Given the description of an element on the screen output the (x, y) to click on. 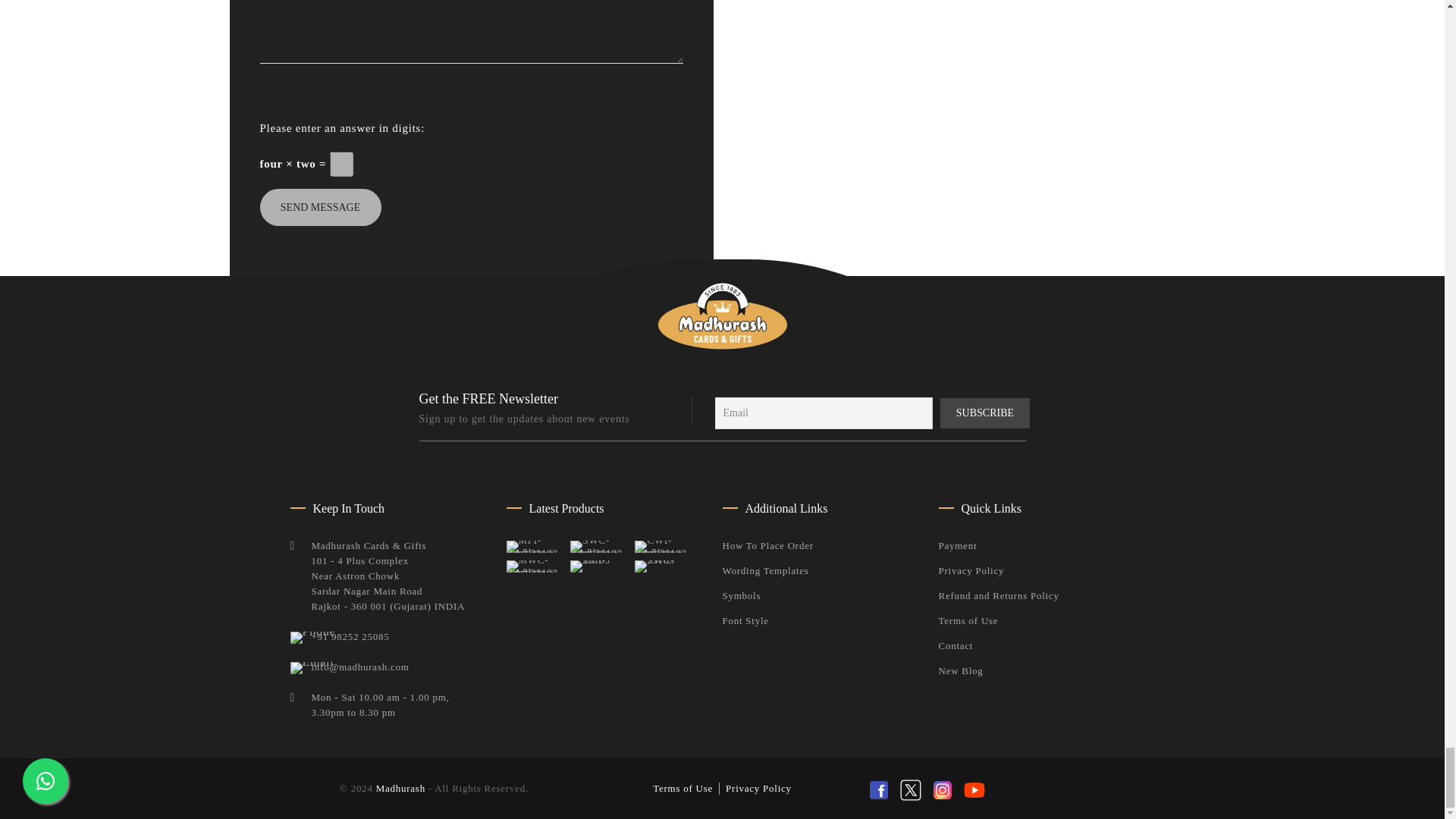
Send Message (319, 207)
SUBSCRIBE (985, 413)
